Given the description of an element on the screen output the (x, y) to click on. 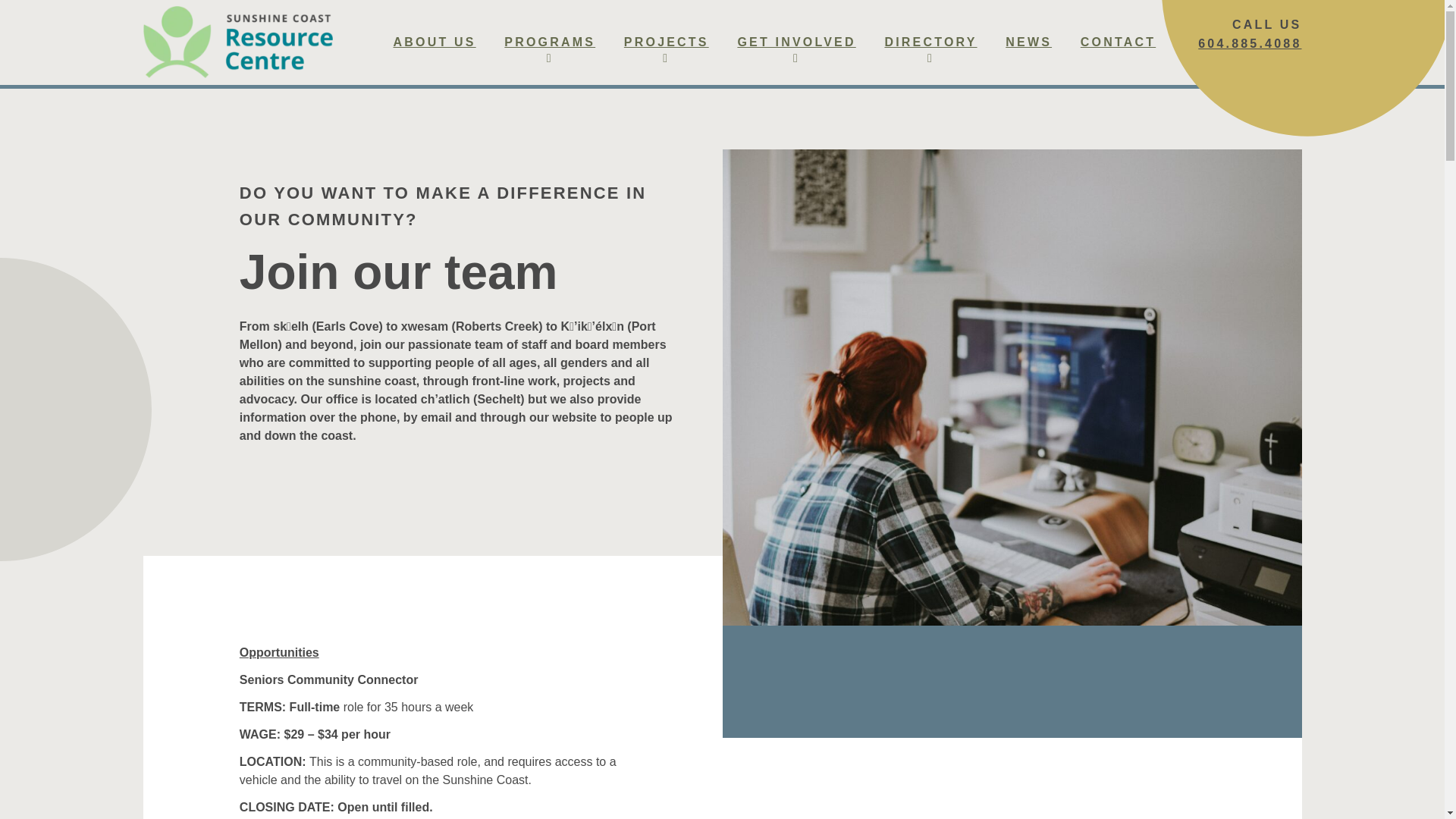
PROGRAMS (549, 42)
CONTACT (1117, 42)
604.885.4088 (1249, 43)
DIRECTORY (929, 42)
GET INVOLVED (795, 42)
PROJECTS (665, 42)
ABOUT US (434, 42)
